Given the description of an element on the screen output the (x, y) to click on. 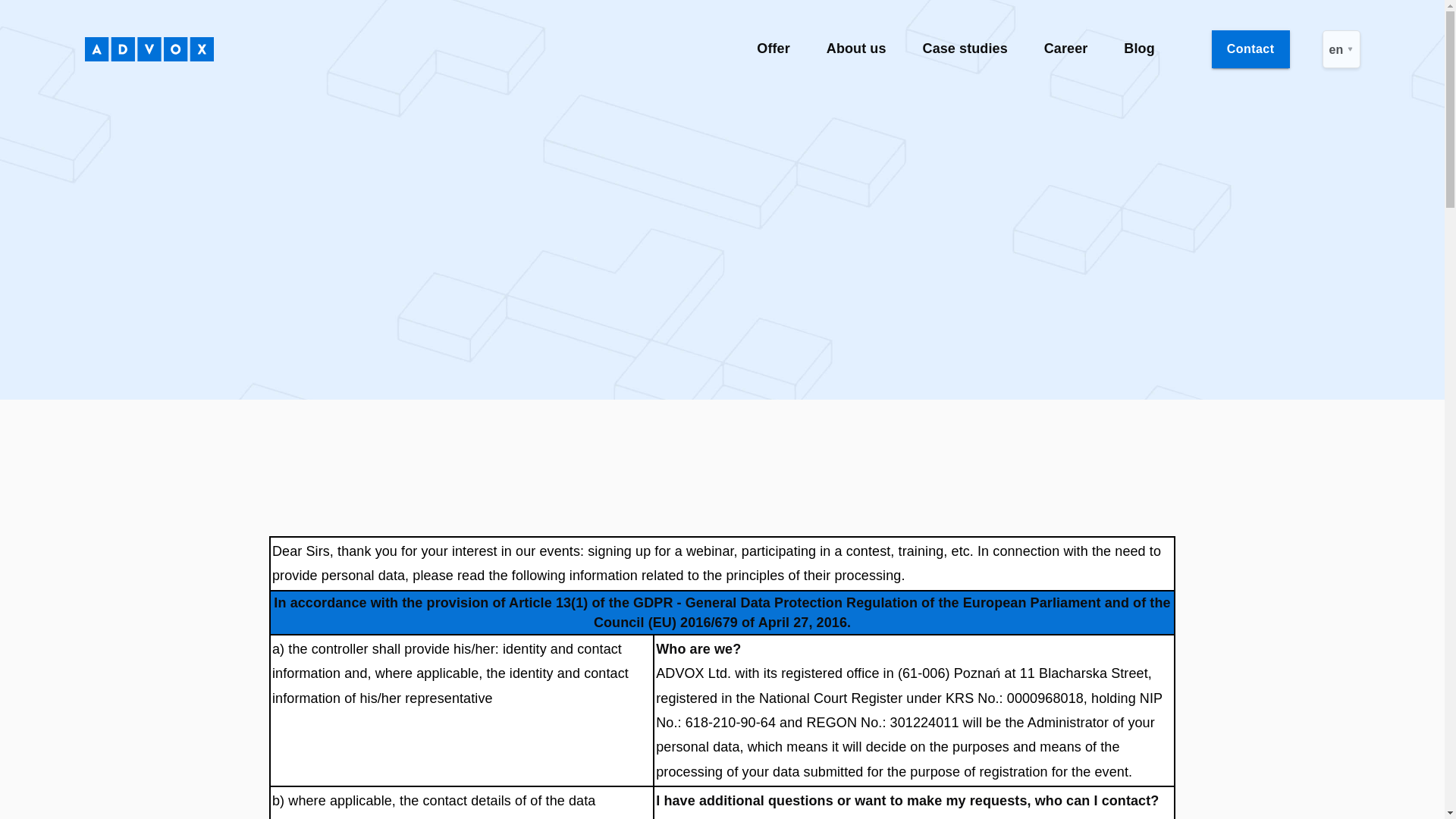
Blog (1139, 48)
Career (1065, 48)
Offer (773, 48)
About us (856, 48)
Case studies (965, 48)
